Given the description of an element on the screen output the (x, y) to click on. 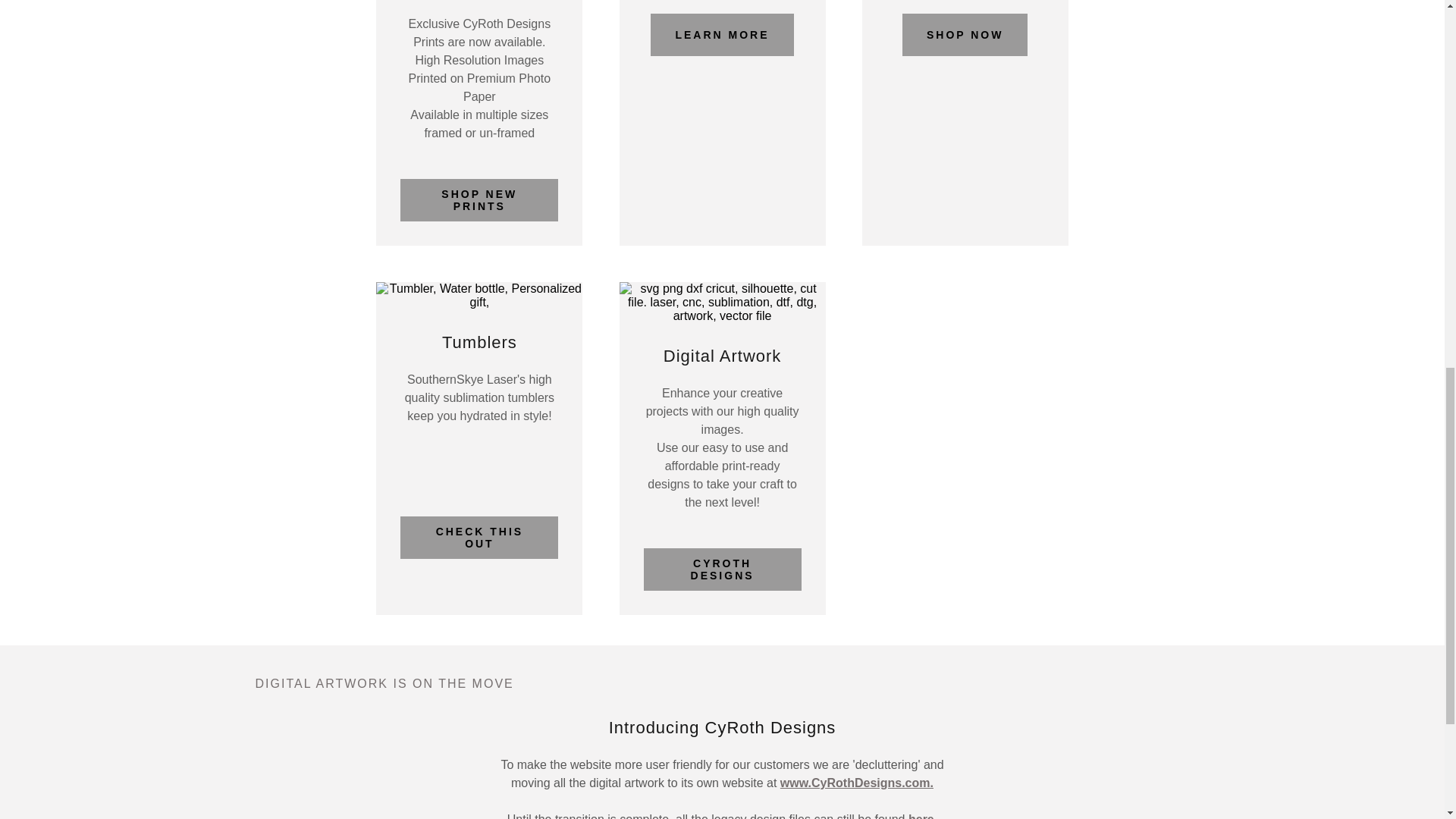
LEARN MORE (721, 34)
SHOP NEW PRINTS (478, 200)
SHOP NOW (964, 34)
CYROTH DESIGNS (722, 568)
CHECK THIS OUT (478, 537)
